Given the description of an element on the screen output the (x, y) to click on. 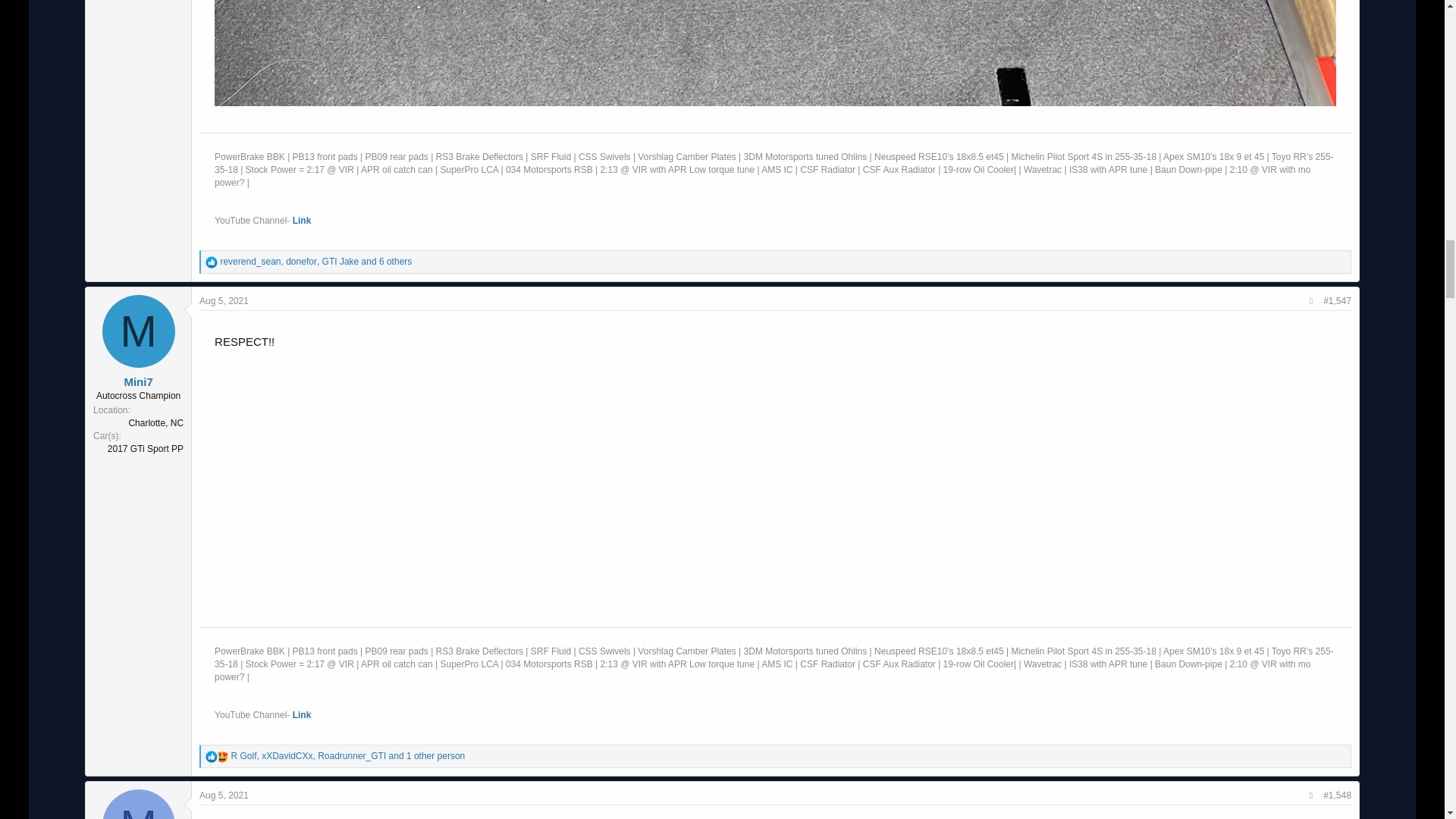
Love (221, 756)
470A86B2-63E0-4C77-A838-7D10A053C367.jpeg (775, 55)
470A86B2-63E0-4C77-A838-7D10A053C367.jpeg (775, 53)
Like (210, 756)
Aug 5, 2021 at 4:08 PM (223, 300)
Like (210, 262)
